Given the description of an element on the screen output the (x, y) to click on. 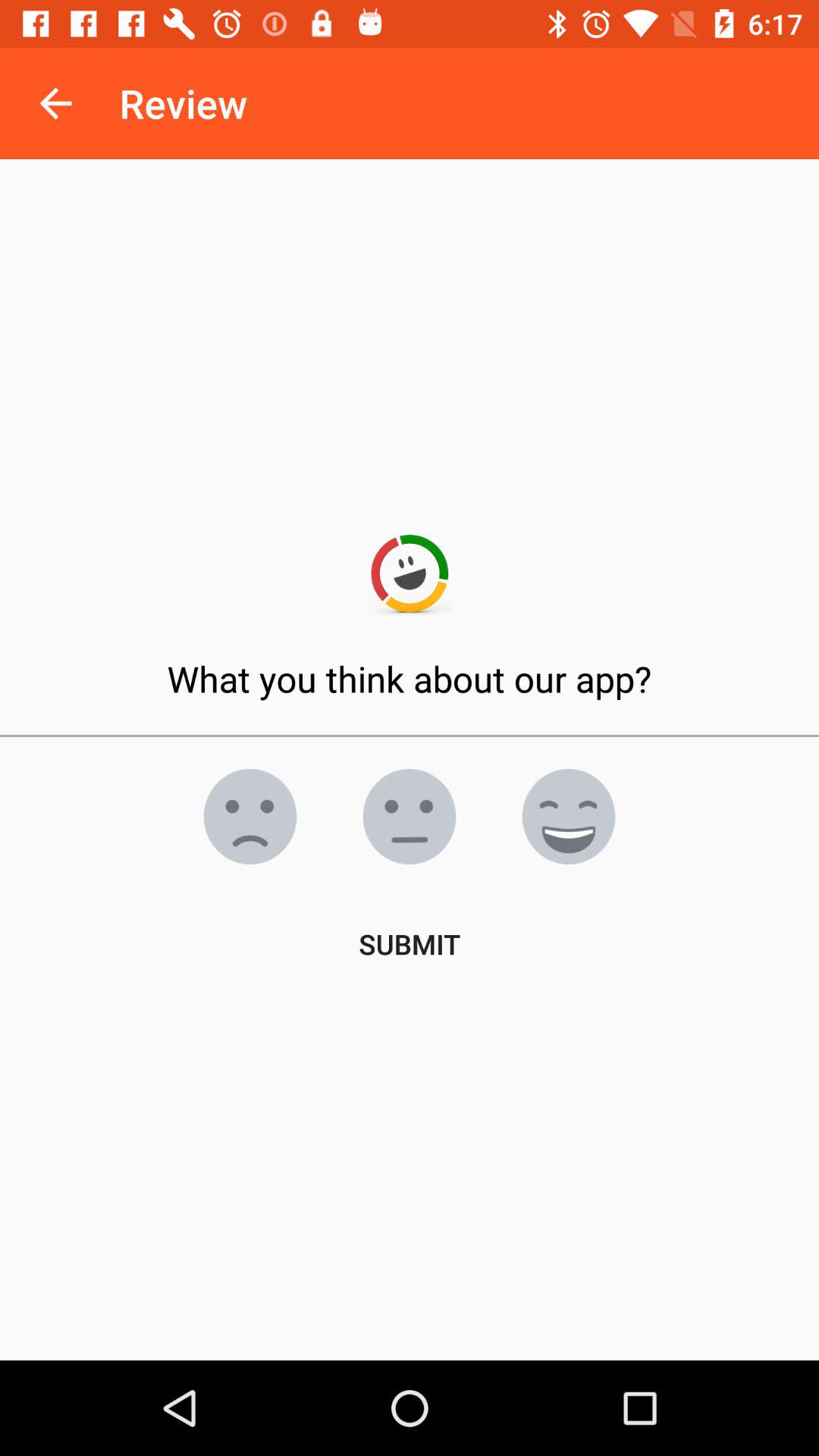
select emoji (568, 816)
